Given the description of an element on the screen output the (x, y) to click on. 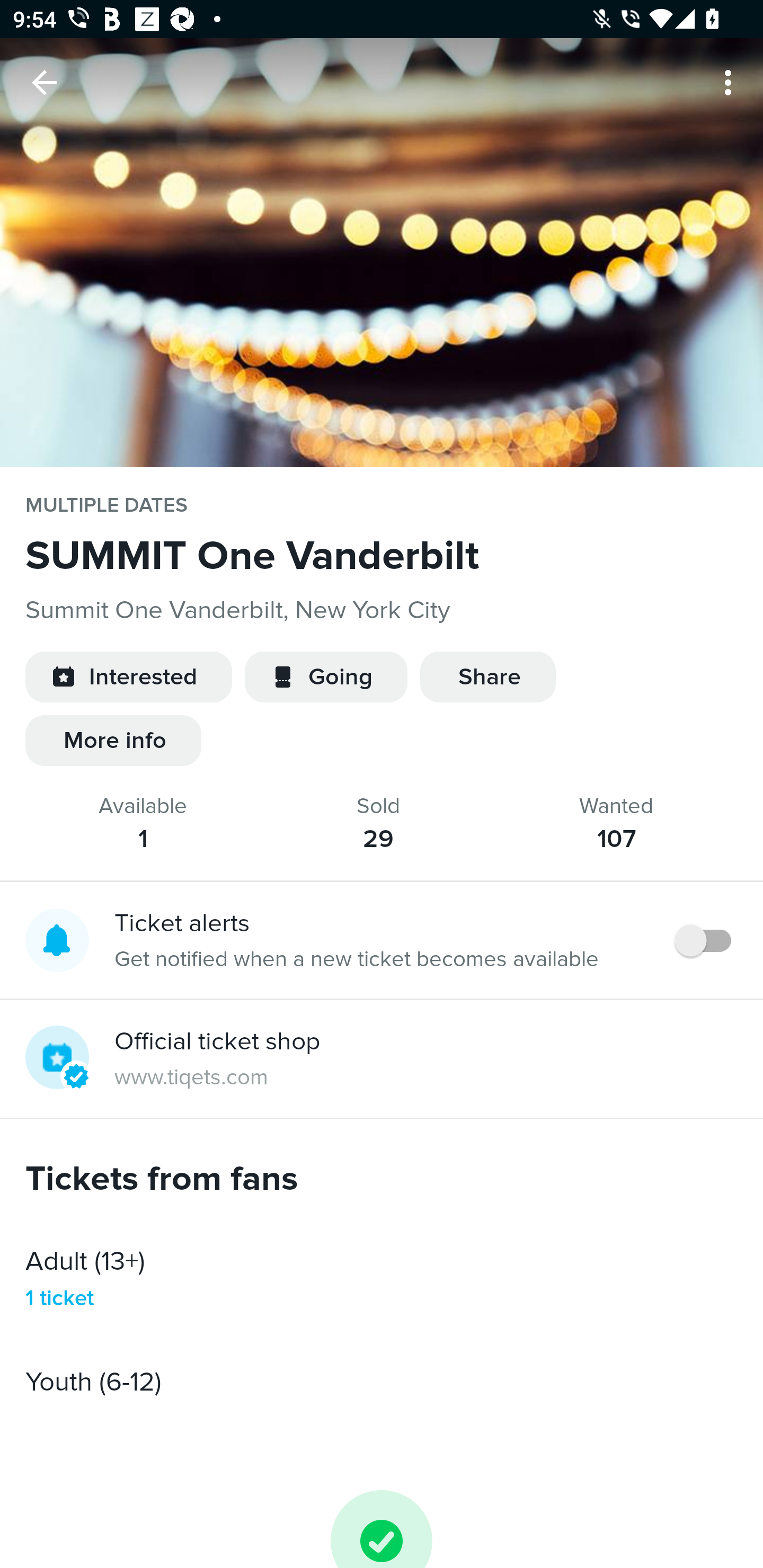
Navigate up (44, 82)
More options (731, 81)
Interested (128, 677)
Going (325, 677)
Share (487, 677)
More info (113, 740)
Official ticket shop www.tiqets.com (381, 1058)
Adult (13+) 1 ticket (381, 1278)
Youth (6-12) (381, 1381)
